Given the description of an element on the screen output the (x, y) to click on. 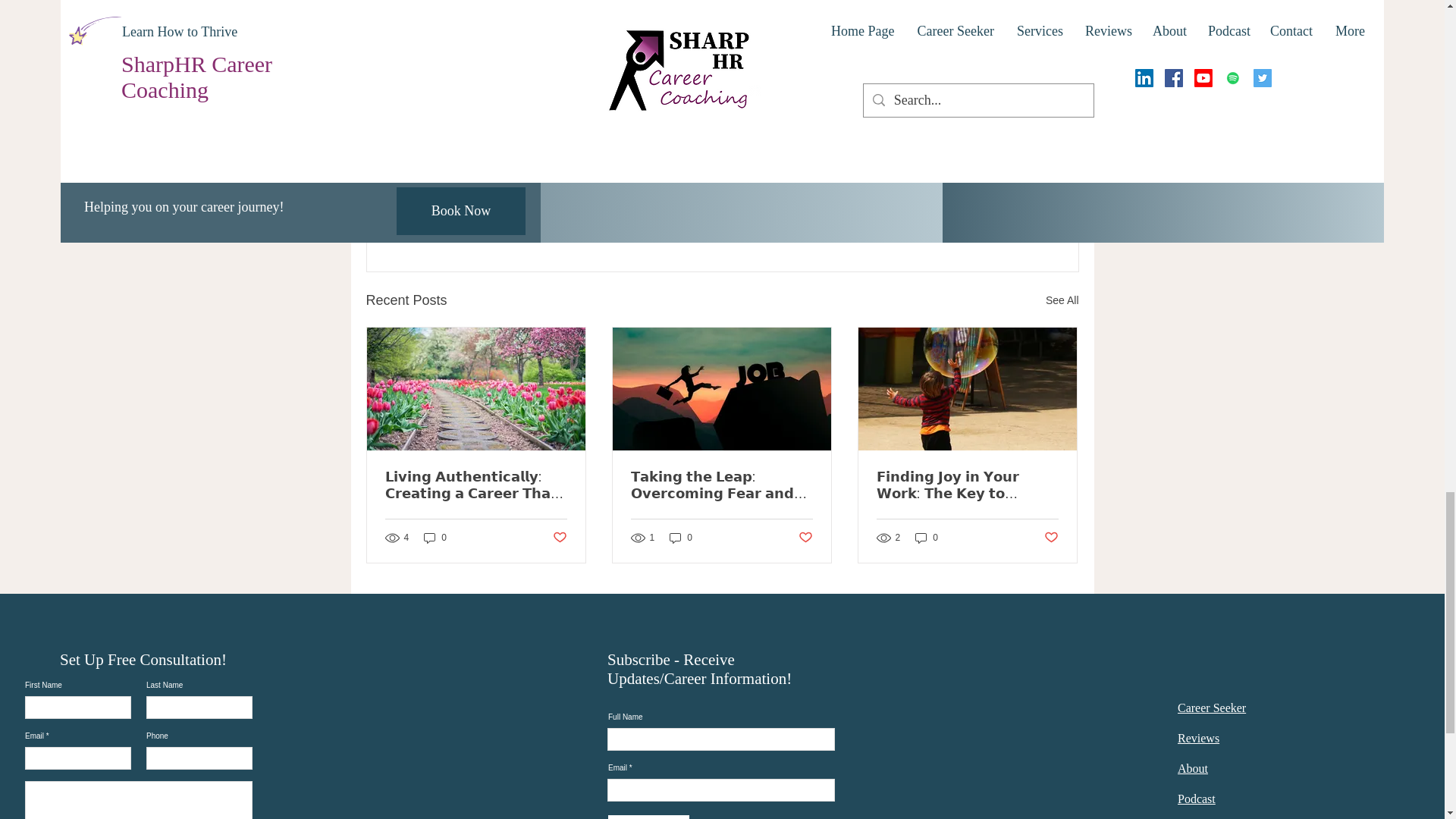
Post not marked as liked (804, 537)
0 (926, 537)
0 (435, 537)
0 (681, 537)
See All (1061, 300)
Post not marked as liked (995, 217)
Post not marked as liked (558, 537)
